Given the description of an element on the screen output the (x, y) to click on. 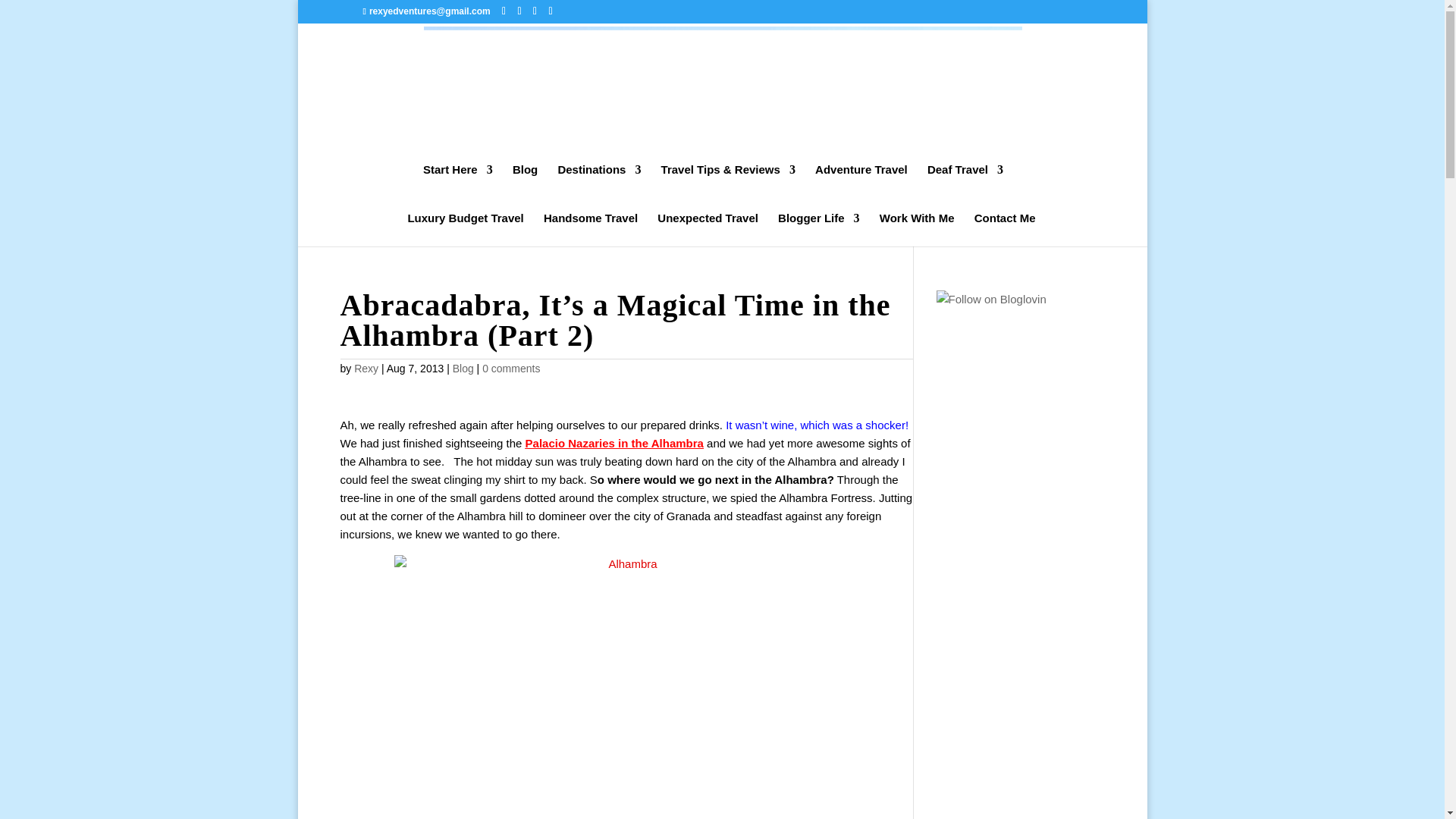
Destinations (598, 181)
Start Here (458, 181)
Follow REXYEDVENTURES on Bloglovin (990, 298)
Posts by Rexy (365, 368)
